Given the description of an element on the screen output the (x, y) to click on. 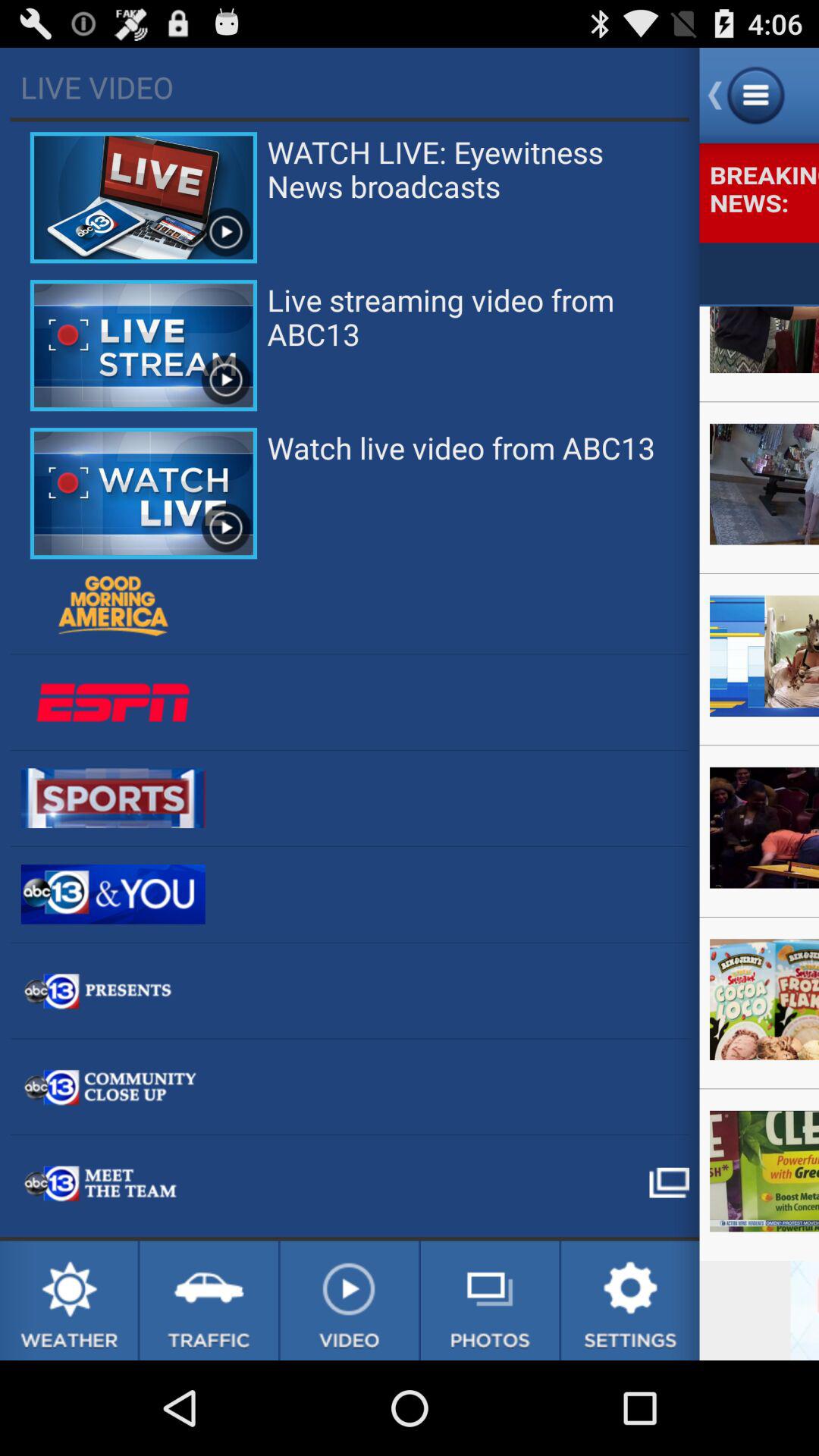
open photos (489, 1300)
